Given the description of an element on the screen output the (x, y) to click on. 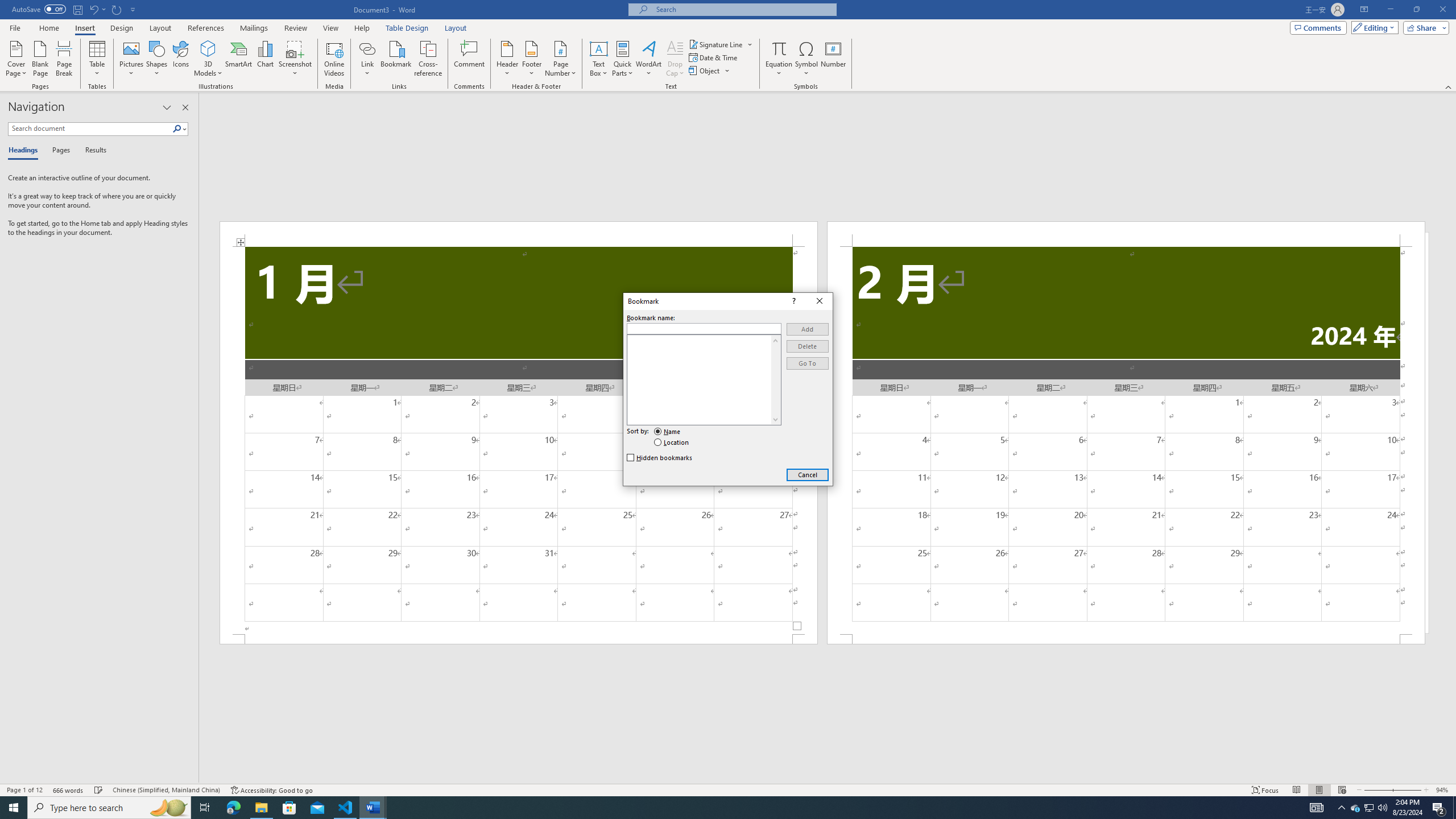
Comment (469, 58)
Text Box (598, 58)
Mode (1372, 27)
Word Count 666 words (68, 790)
RichEdit Control (703, 328)
Microsoft search (742, 9)
Mailings (253, 28)
Search highlights icon opens search home window (167, 807)
Design (122, 28)
Headings (25, 150)
